Given the description of an element on the screen output the (x, y) to click on. 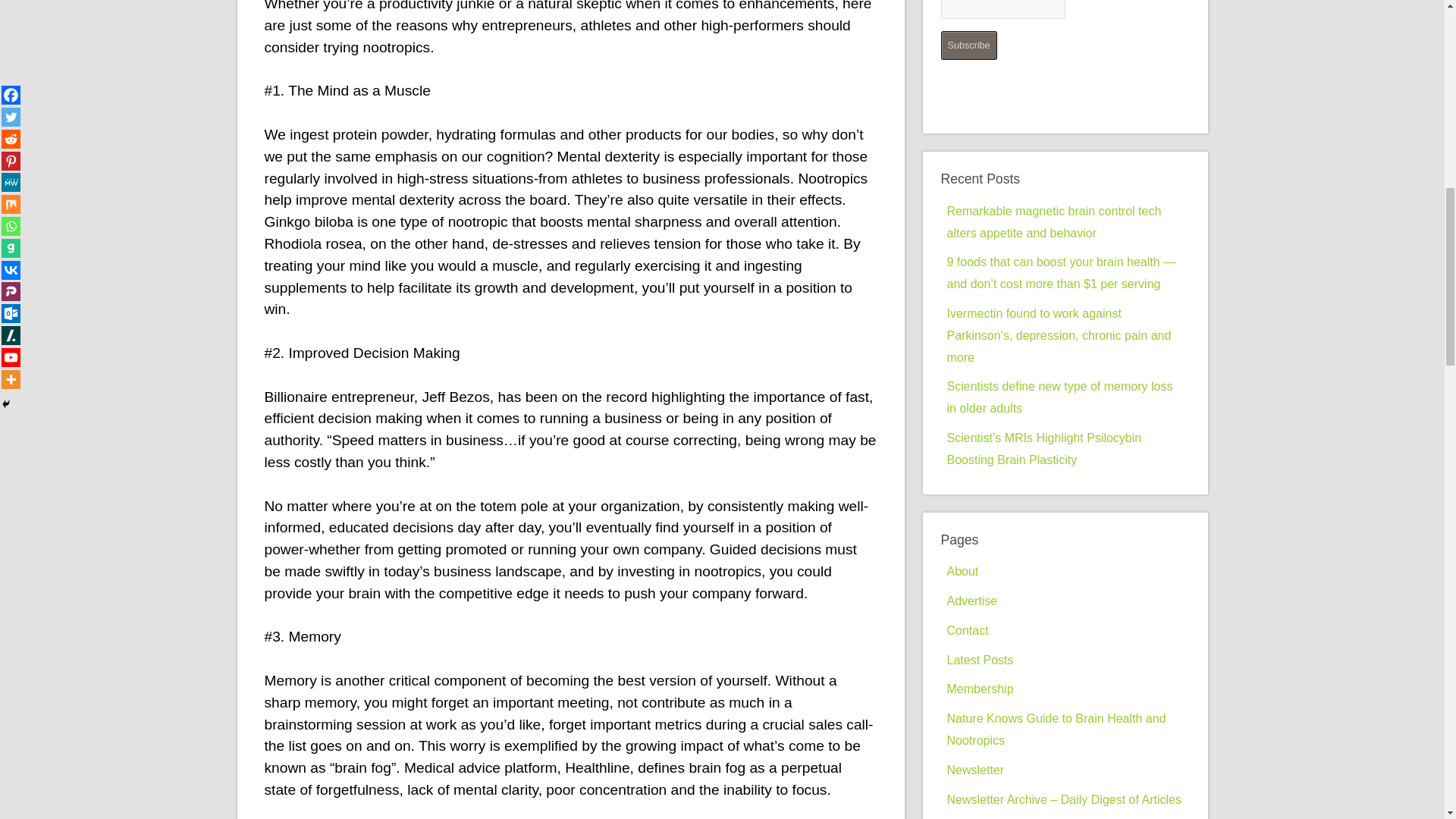
Subscribe (967, 45)
